Given the description of an element on the screen output the (x, y) to click on. 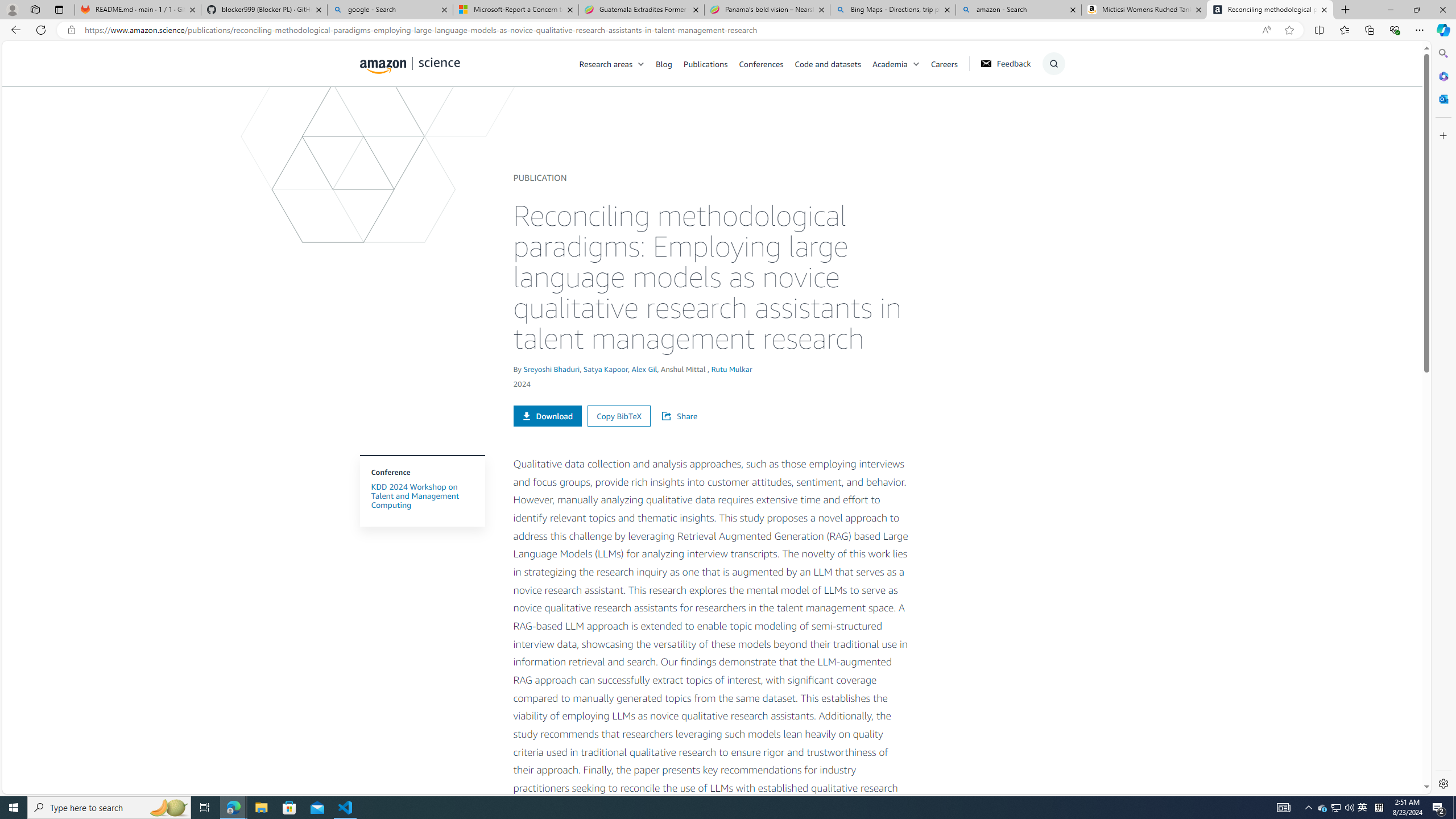
Rutu Mulkar (731, 368)
amazon-science-logo.svg (409, 65)
Academia (889, 63)
Share (684, 415)
Research areas (617, 63)
Research areas (606, 63)
Conferences (760, 63)
Download (547, 415)
